Given the description of an element on the screen output the (x, y) to click on. 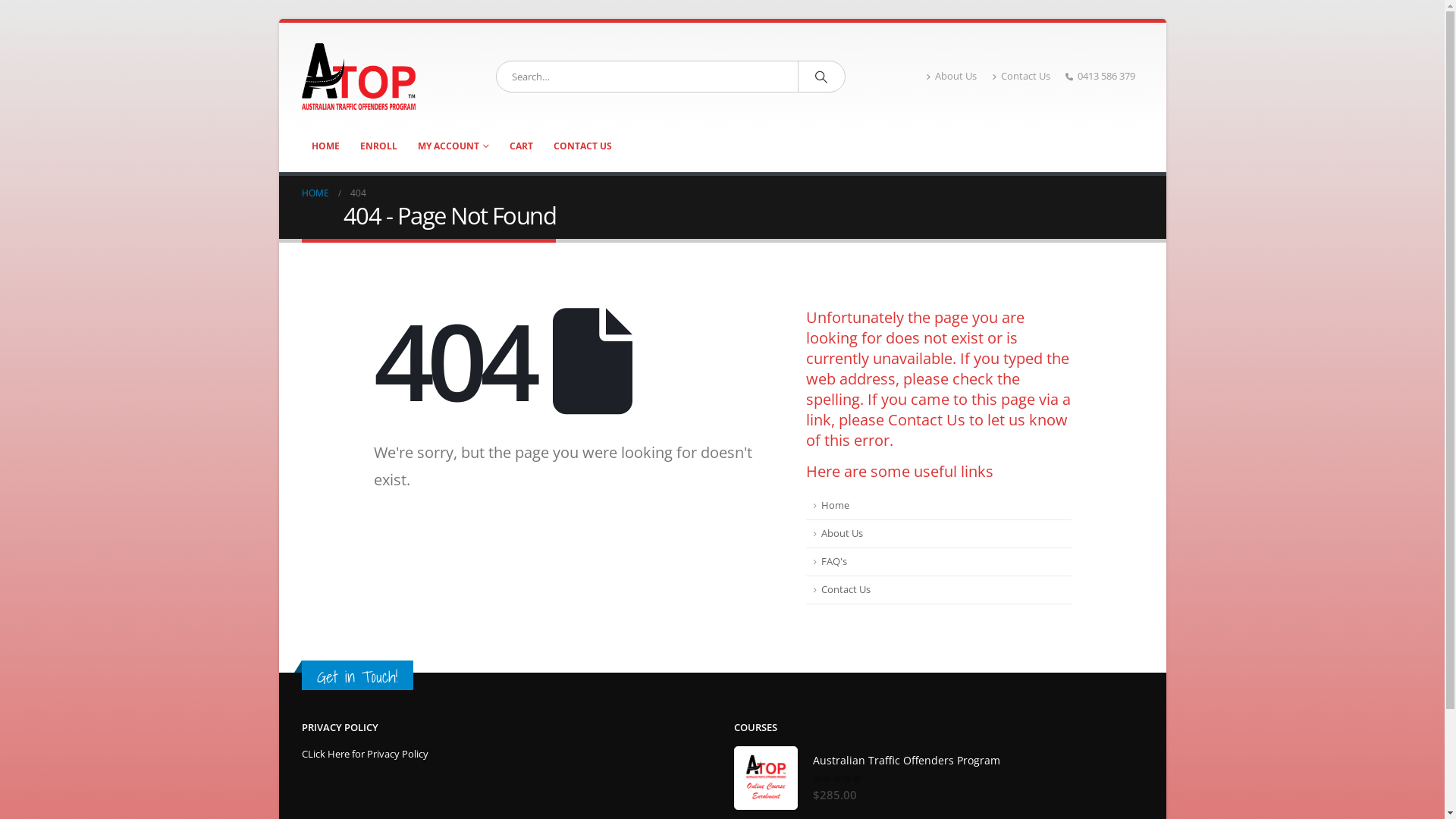
Home Element type: text (937, 506)
ENROLL Element type: text (378, 145)
CONTACT US Element type: text (581, 145)
Contact Us Element type: text (937, 590)
Australian Traffic Offenders Program Element type: hover (765, 777)
CLick Here for Privacy Policy Element type: text (364, 753)
HOME Element type: text (325, 145)
Australian Traffic Offenders Program Element type: text (977, 760)
Search Element type: hover (820, 76)
About Us Element type: text (954, 76)
Contact Us Element type: text (925, 419)
FAQ's Element type: text (937, 562)
MY ACCOUNT Element type: text (452, 145)
ATOP Online Course - ATOP Online Course Element type: hover (358, 76)
About Us Element type: text (937, 534)
HOME Element type: text (315, 193)
CART Element type: text (520, 145)
Contact Us Element type: text (1020, 76)
Get in Touch! Element type: text (357, 676)
